Given the description of an element on the screen output the (x, y) to click on. 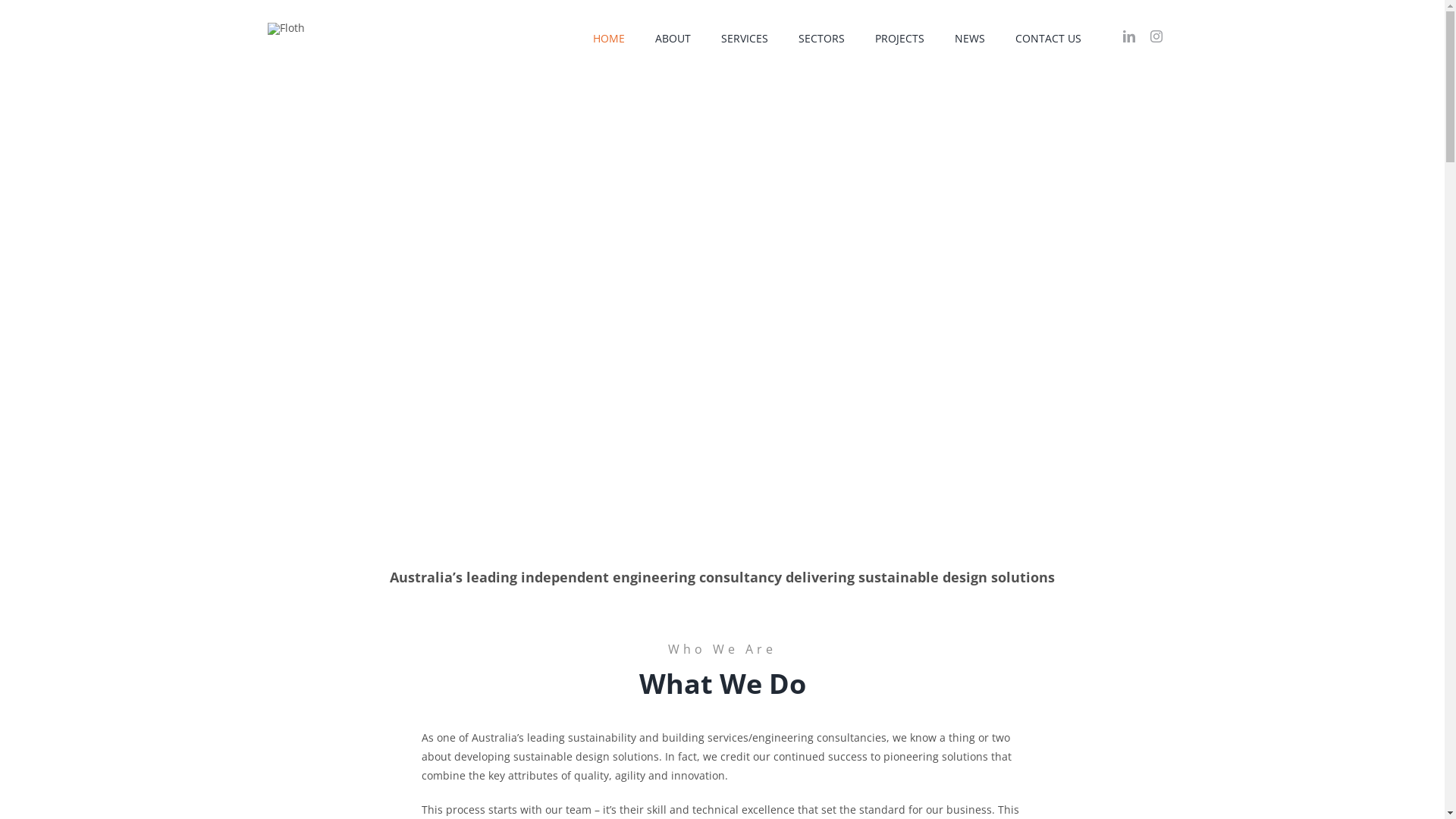
Instagram Element type: hover (1155, 36)
NEWS Element type: text (968, 38)
SERVICES Element type: text (743, 38)
HOME Element type: text (608, 38)
ABOUT Element type: text (672, 38)
LinkedIn Element type: hover (1128, 36)
PROJECTS Element type: text (899, 38)
SECTORS Element type: text (820, 38)
Logo Element type: hover (285, 28)
CONTACT US Element type: text (1047, 38)
